Given the description of an element on the screen output the (x, y) to click on. 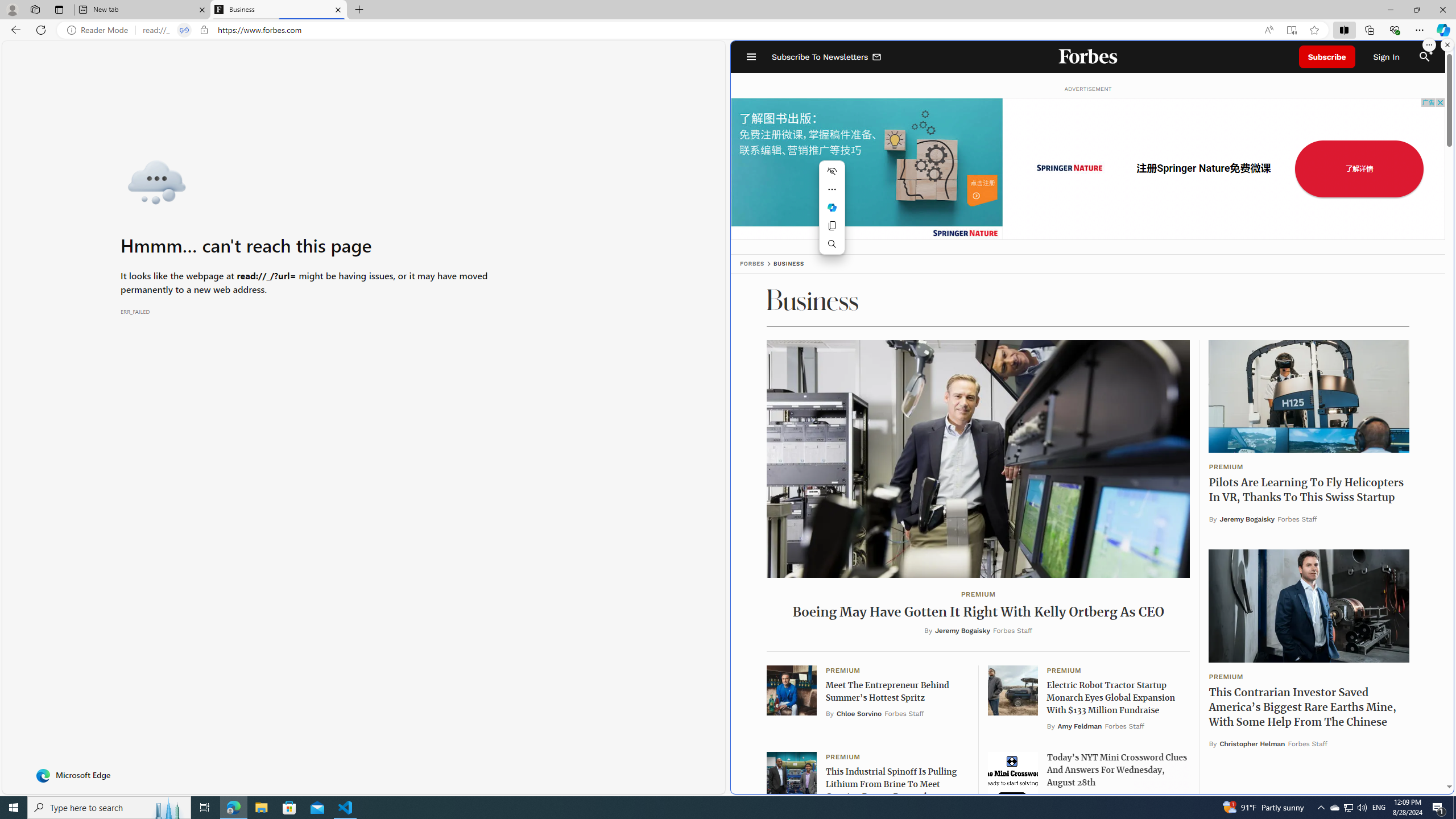
Subscribe (1326, 56)
Mini menu on text selection (831, 207)
Forbes Logo (1088, 56)
BUSINESS (788, 263)
FORBES (751, 263)
Chloe Sorvino (858, 714)
Ask Copilot (831, 207)
Copy (831, 226)
